Given the description of an element on the screen output the (x, y) to click on. 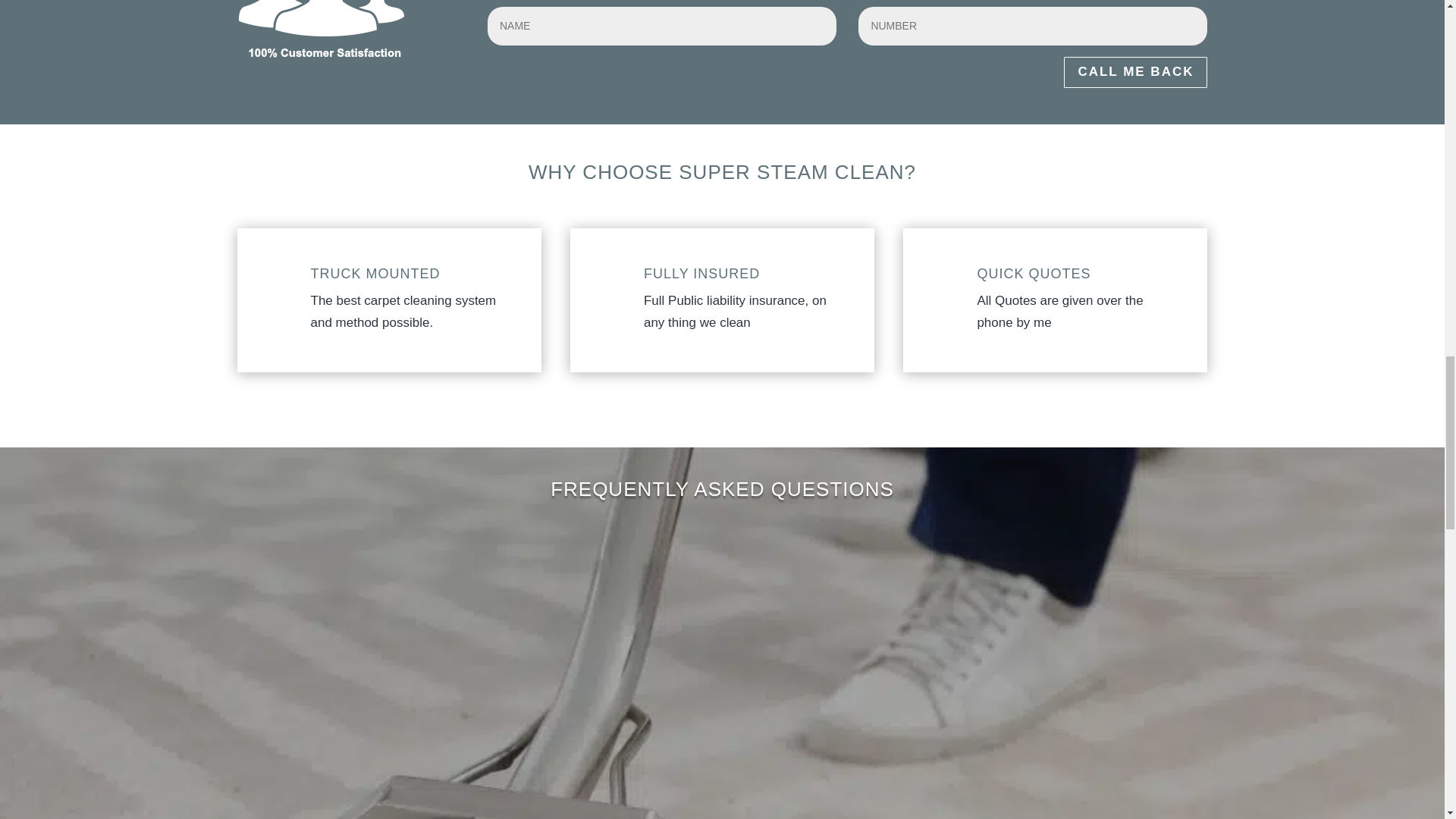
CALL ME BACK (1135, 71)
